Given the description of an element on the screen output the (x, y) to click on. 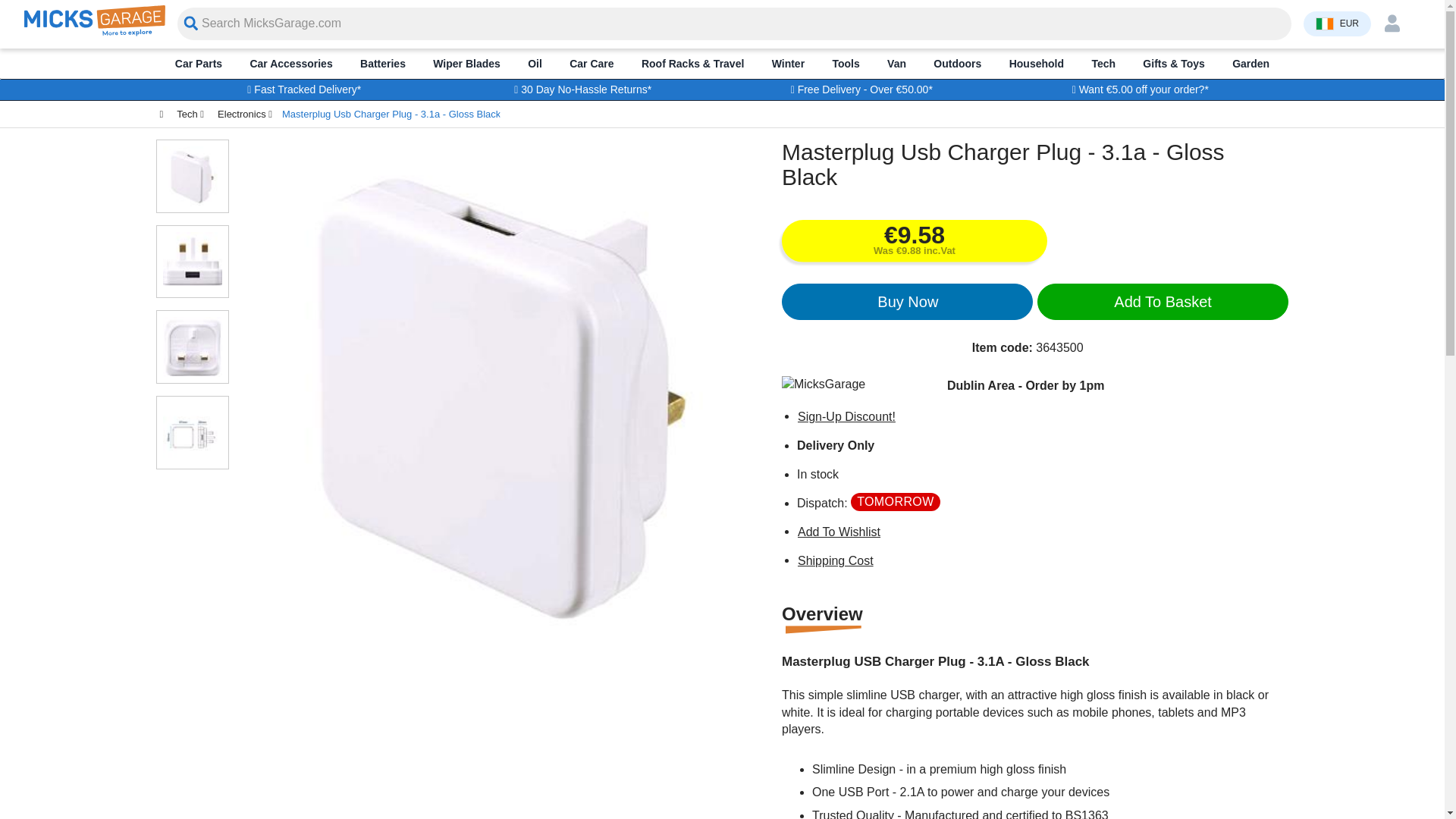
Winter (788, 63)
Batteries (382, 63)
Garden (1250, 63)
tools (845, 63)
Garden (1250, 63)
Wiper Blades (466, 63)
Tech (1103, 63)
Batteries (382, 63)
Car Accessories (291, 63)
Household (1036, 63)
Outdoors (957, 63)
Household (1036, 63)
EUR (1337, 23)
Car Care (591, 63)
Tools (845, 63)
